Given the description of an element on the screen output the (x, y) to click on. 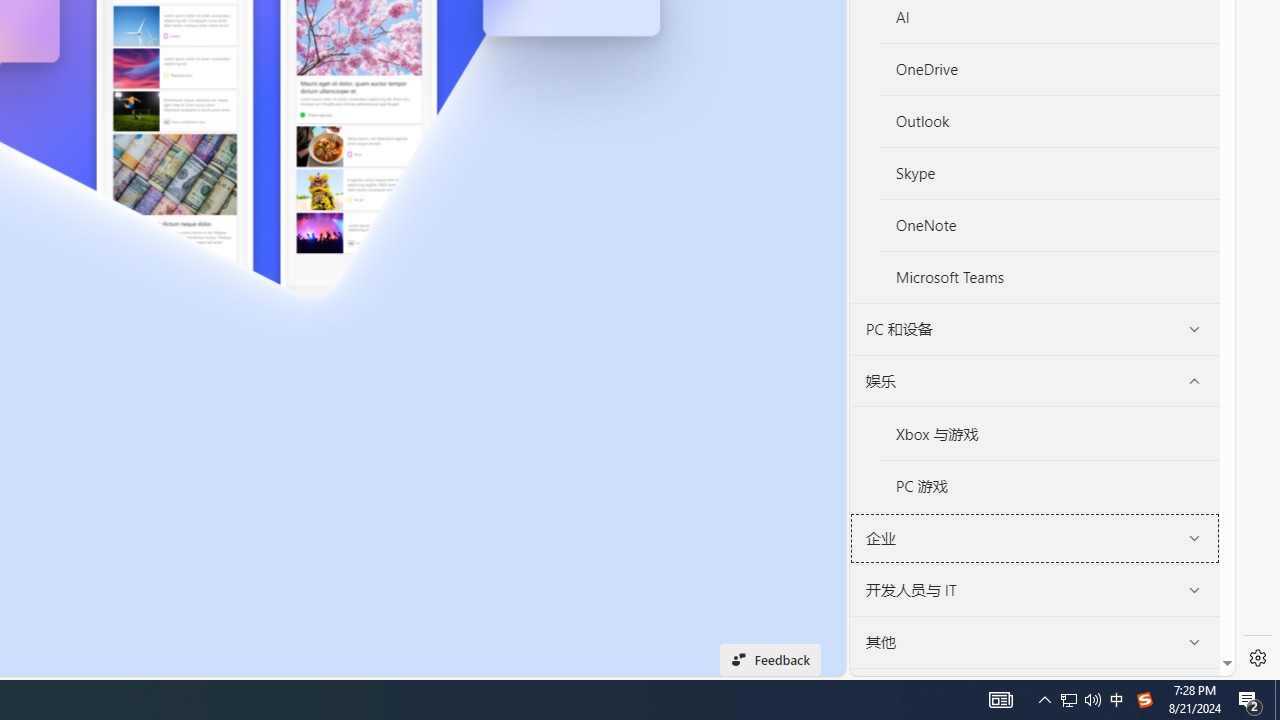
Skype (1049, 173)
OneNote (1049, 224)
OneNote (1049, 225)
Microsoft Teams (1049, 276)
